Given the description of an element on the screen output the (x, y) to click on. 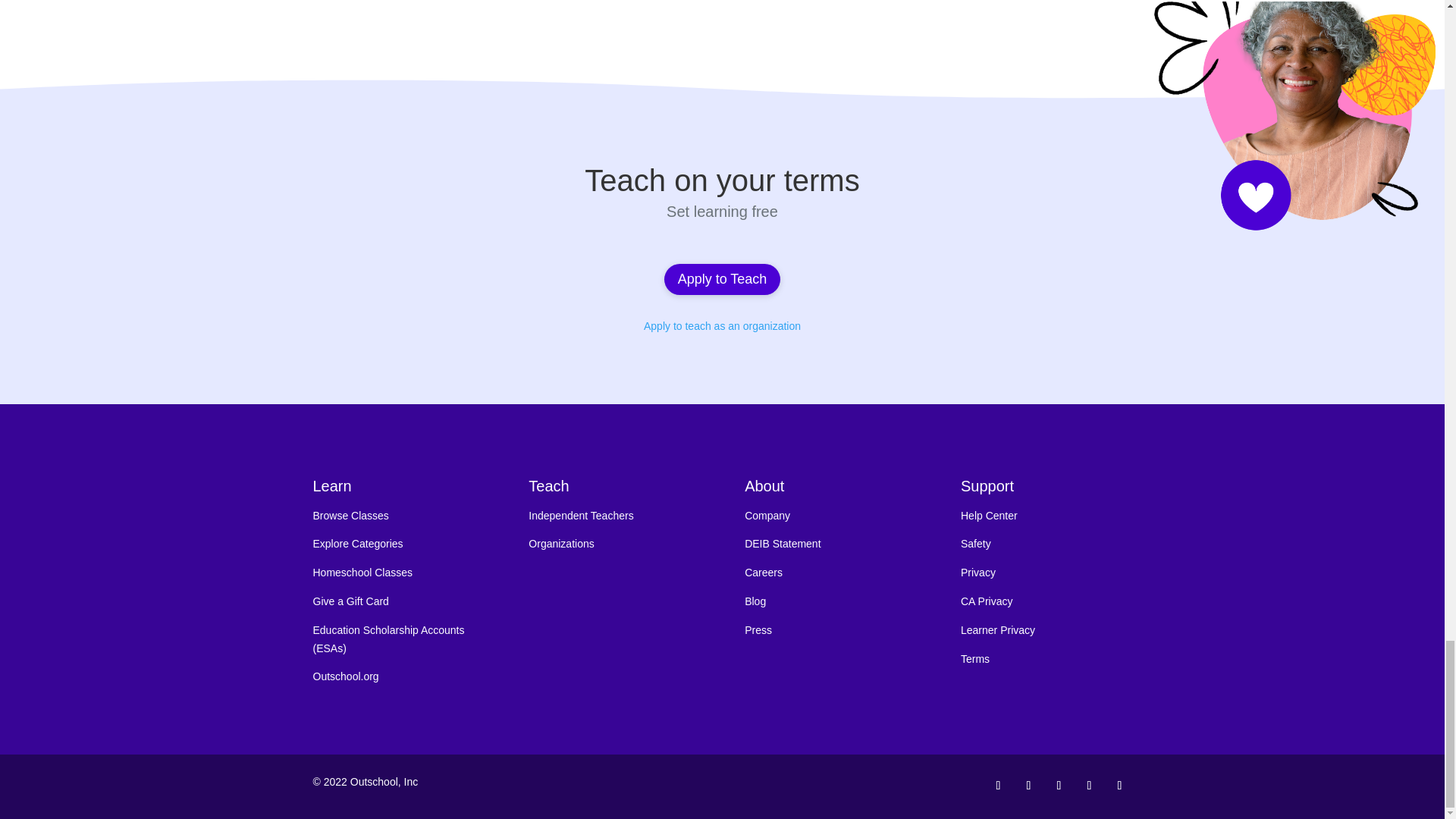
Follow on Instagram (1028, 785)
Follow on Pinterest (1058, 785)
Follow on X (1088, 785)
Follow on Youtube (1118, 785)
Follow on Facebook (997, 785)
